Given the description of an element on the screen output the (x, y) to click on. 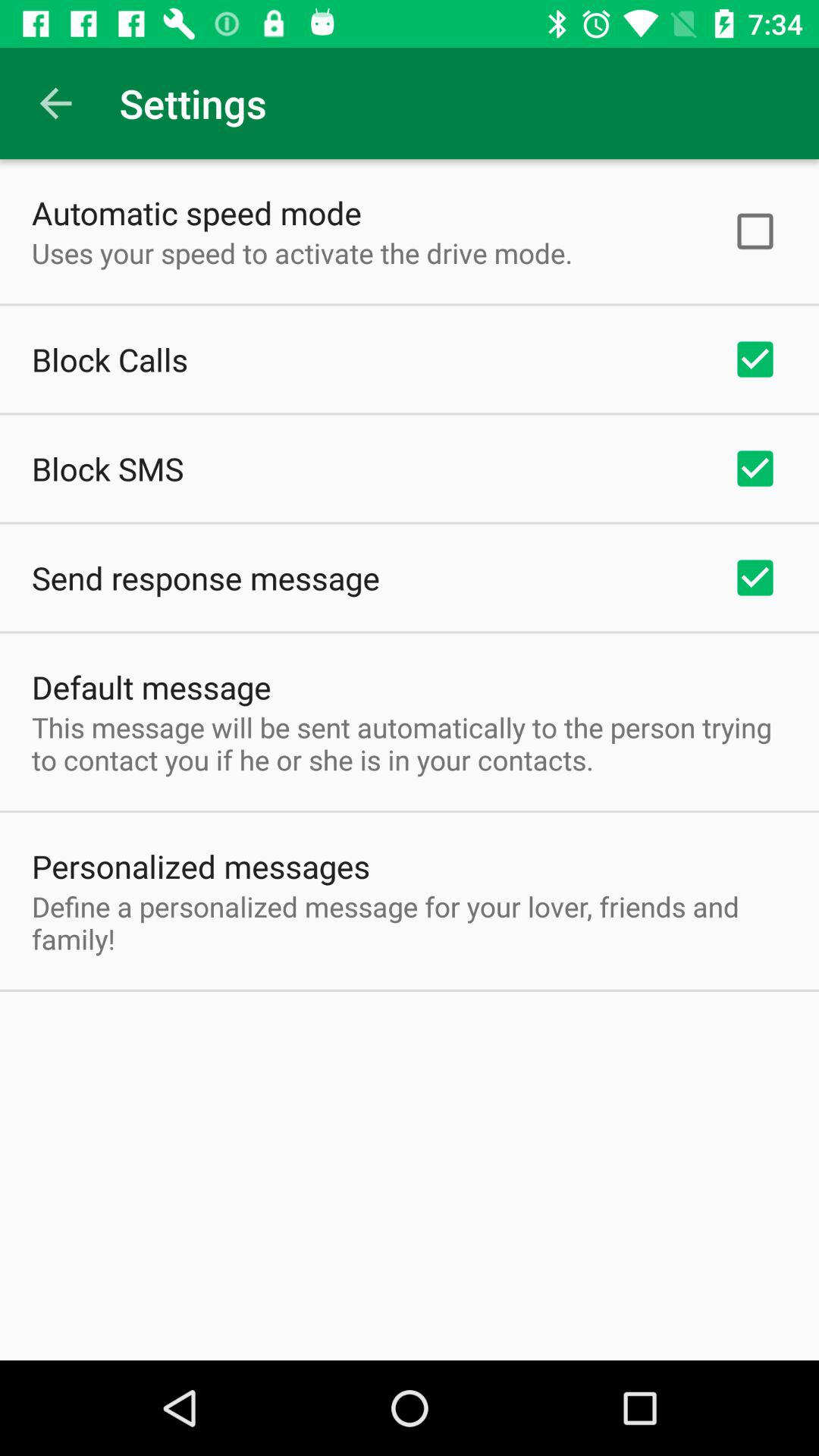
flip to the personalized messages icon (200, 865)
